Given the description of an element on the screen output the (x, y) to click on. 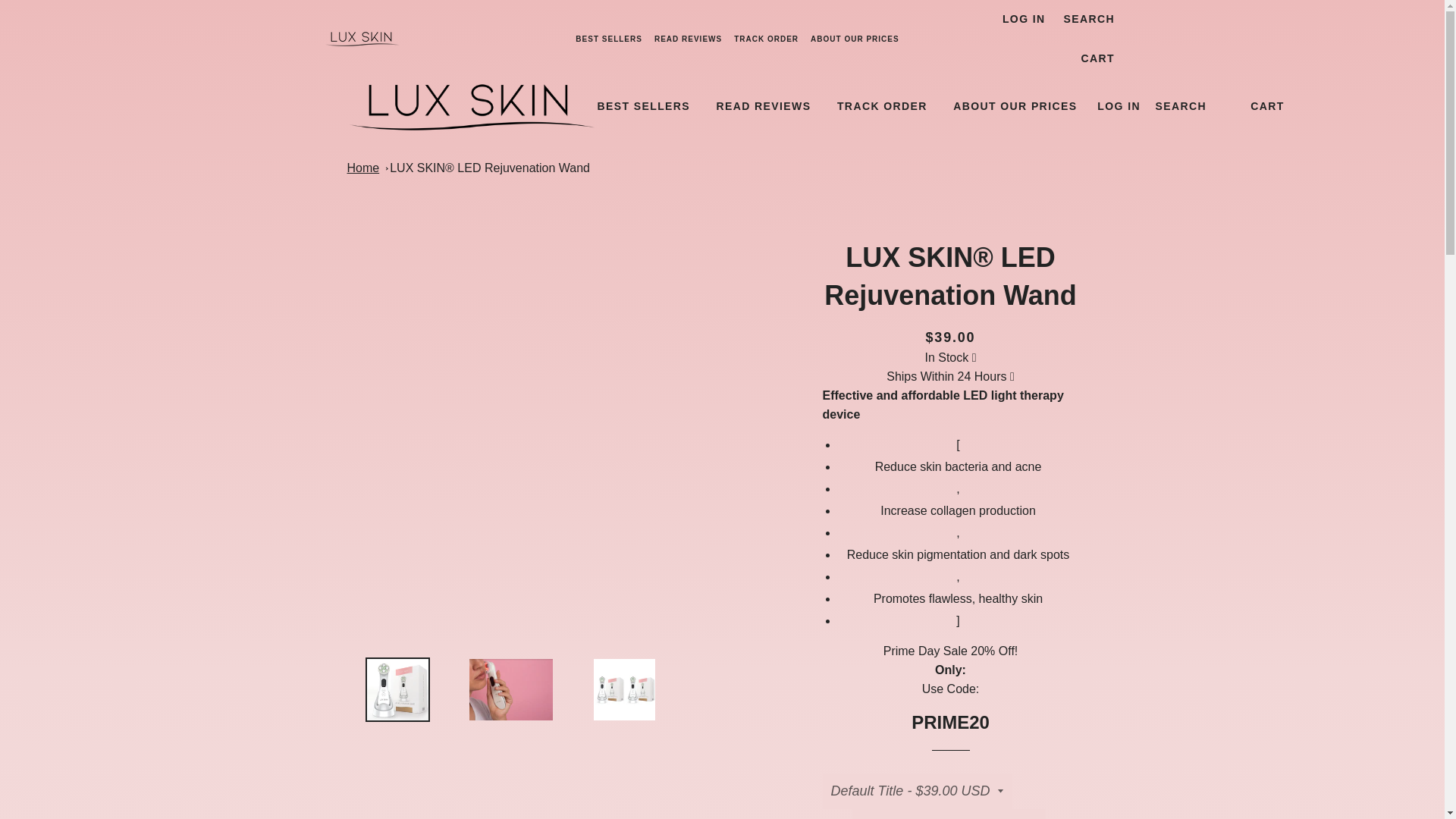
READ REVIEWS (763, 106)
LOG IN (1023, 19)
LOG IN (1119, 106)
CART (1097, 58)
BEST SELLERS (643, 106)
BEST SELLERS (608, 39)
CART (1267, 106)
TRACK ORDER (882, 106)
READ REVIEWS (687, 39)
ABOUT OUR PRICES (1014, 106)
ABOUT OUR PRICES (855, 39)
TRACK ORDER (766, 39)
1 (948, 814)
SEARCH (1089, 19)
SEARCH (1181, 106)
